Given the description of an element on the screen output the (x, y) to click on. 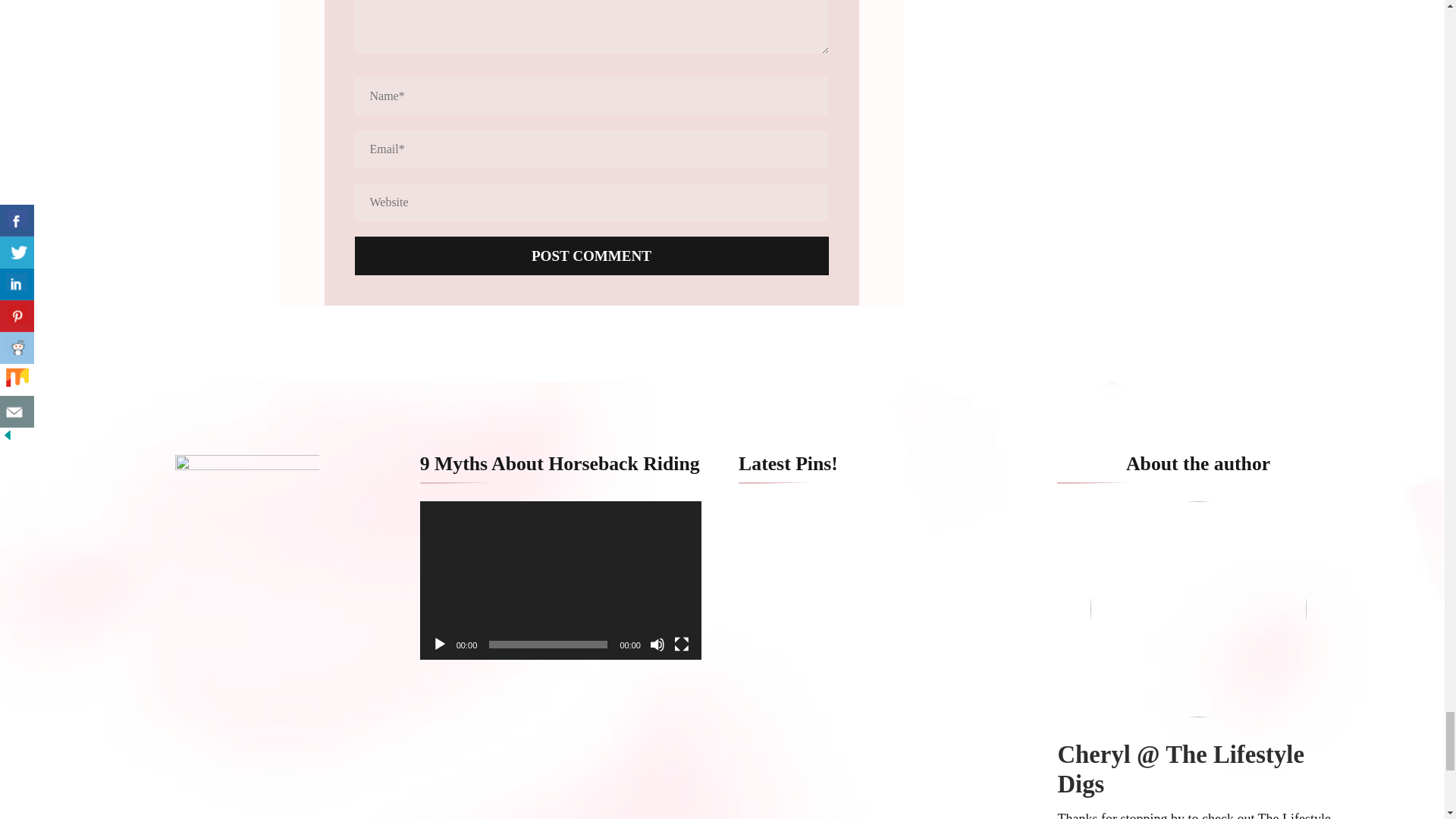
Post Comment (591, 255)
